Given the description of an element on the screen output the (x, y) to click on. 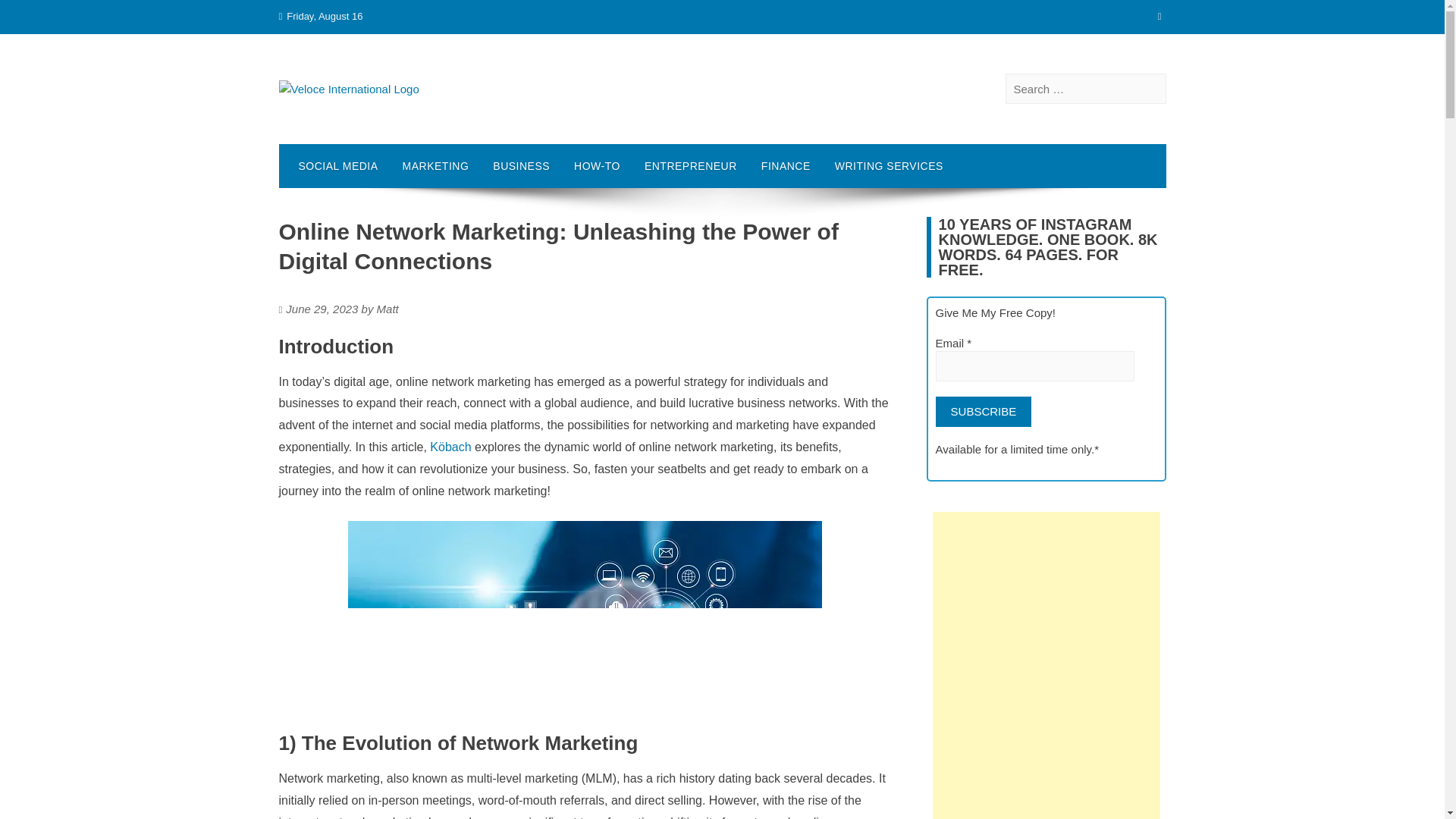
Marketing (435, 166)
BUSINESS (521, 166)
MARKETING (435, 166)
Email (1035, 366)
SOCIAL MEDIA (338, 166)
SUBSCRIBE (984, 411)
SUBSCRIBE (984, 411)
HOW-TO (596, 166)
FINANCE (785, 166)
ENTREPRENEUR (690, 166)
